Given the description of an element on the screen output the (x, y) to click on. 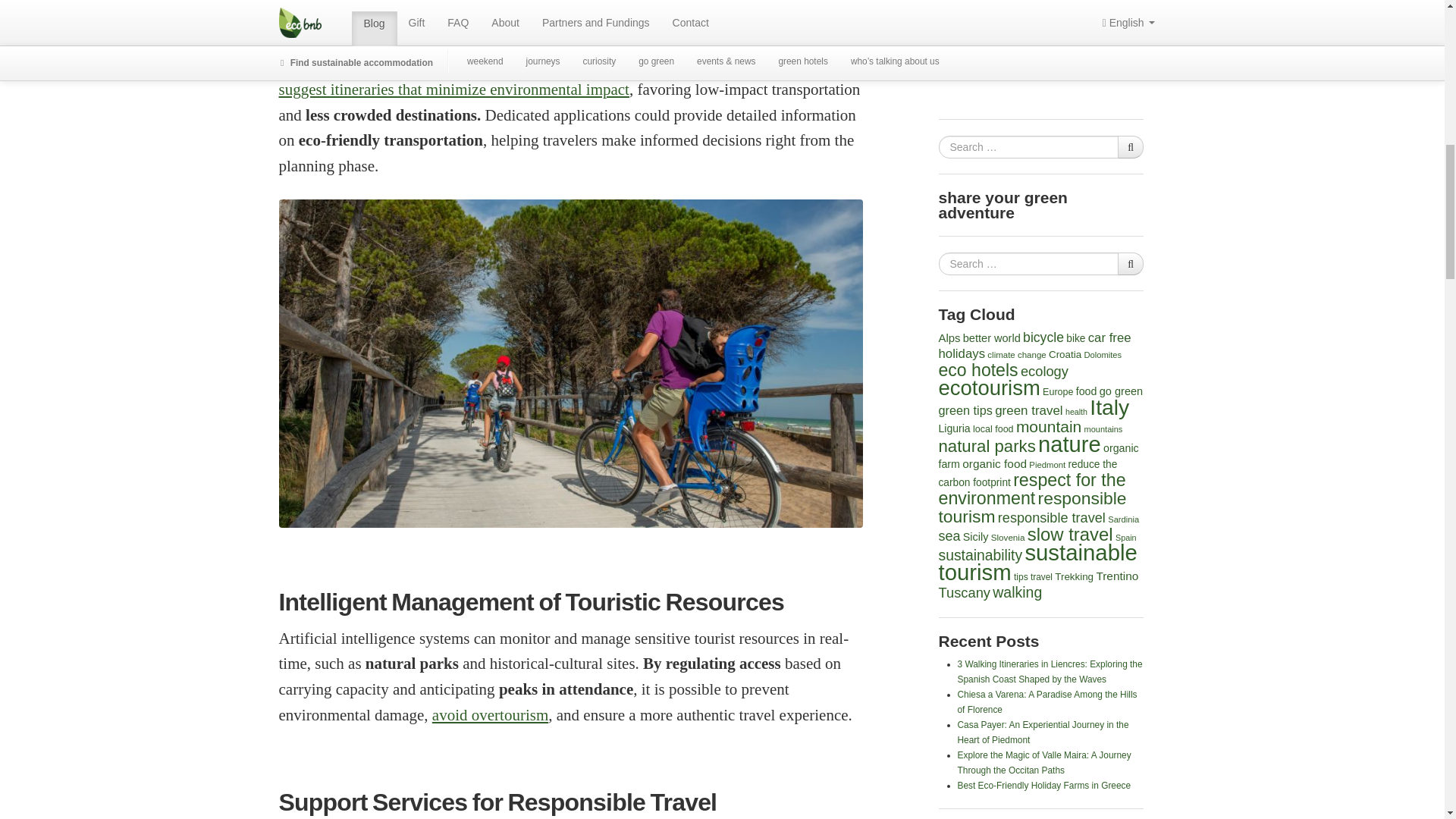
avoid overtourism (490, 714)
Follow Ecobnb on Twitter (1052, 83)
suggest itineraries that minimize environmental impact (453, 89)
